Given the description of an element on the screen output the (x, y) to click on. 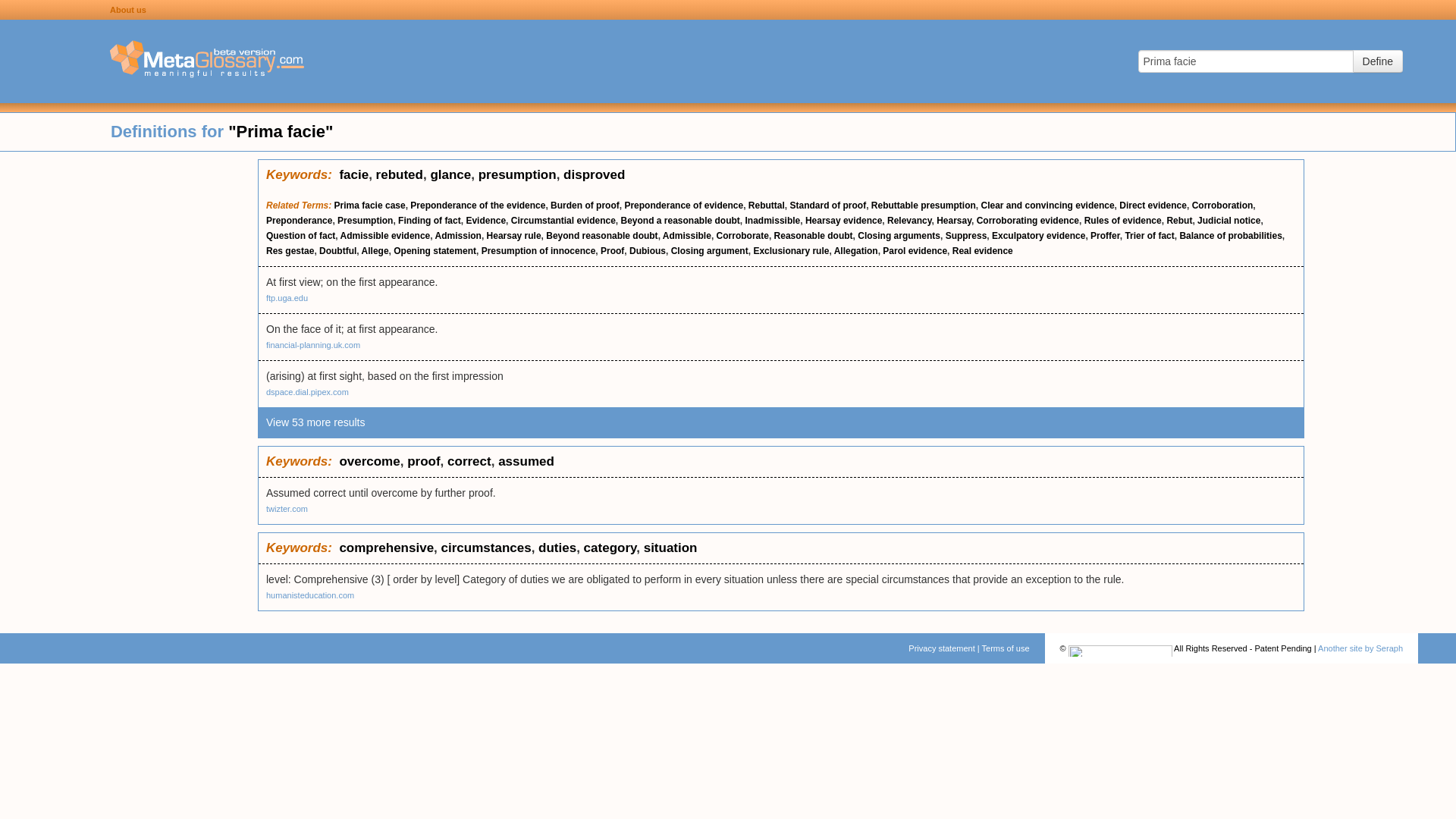
About us (128, 9)
Inadmissible (772, 220)
presumption (517, 174)
Hearsay (953, 220)
Corroborating evidence (1027, 220)
Evidence (485, 220)
glance (449, 174)
facie (353, 174)
Reasonable doubt (813, 235)
Admission (458, 235)
